Given the description of an element on the screen output the (x, y) to click on. 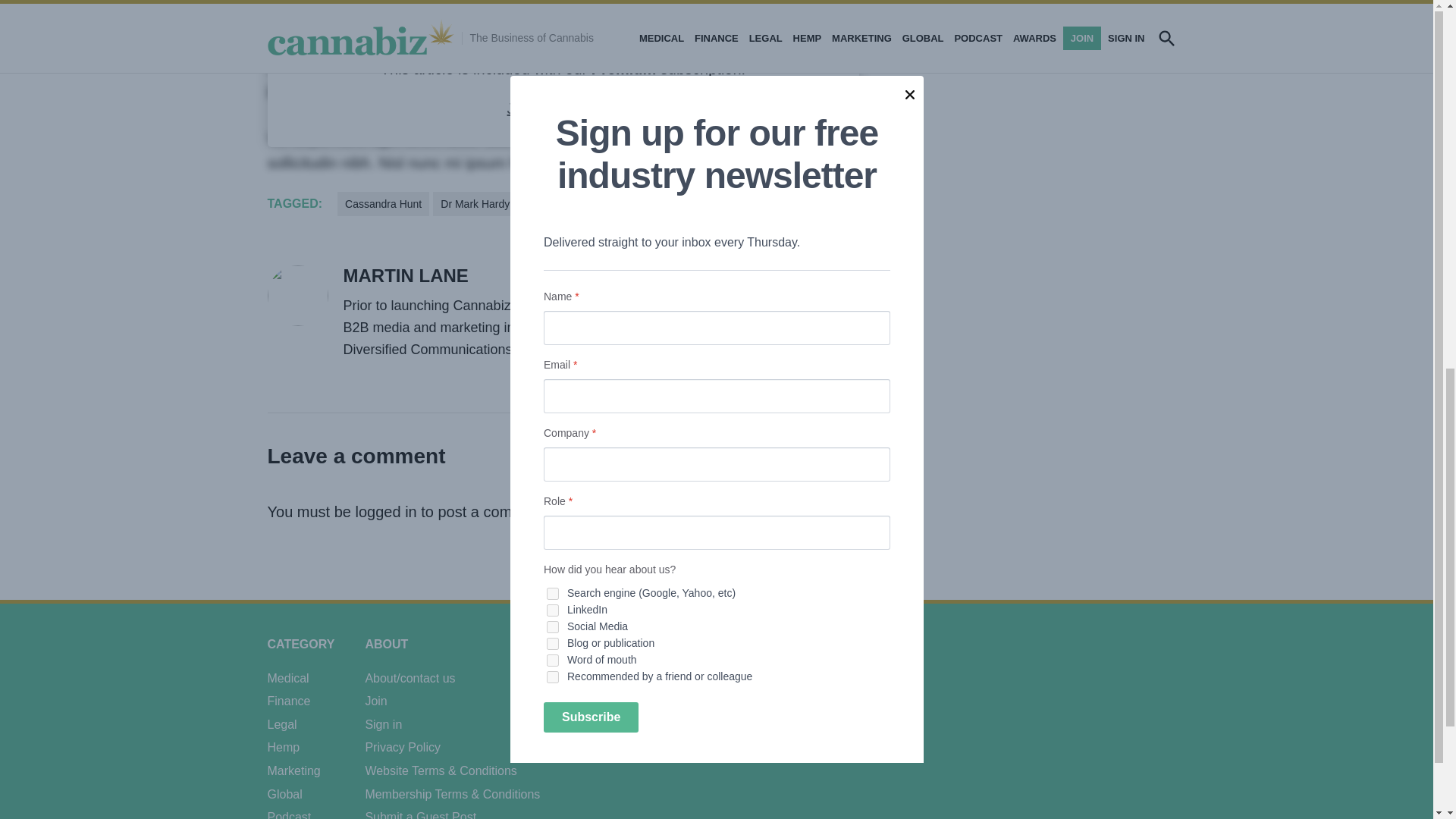
Elisabetta Faenza (571, 203)
Join (521, 108)
Cassandra Hunt (383, 203)
login (602, 108)
Dr Mark Hardy (474, 203)
